Given the description of an element on the screen output the (x, y) to click on. 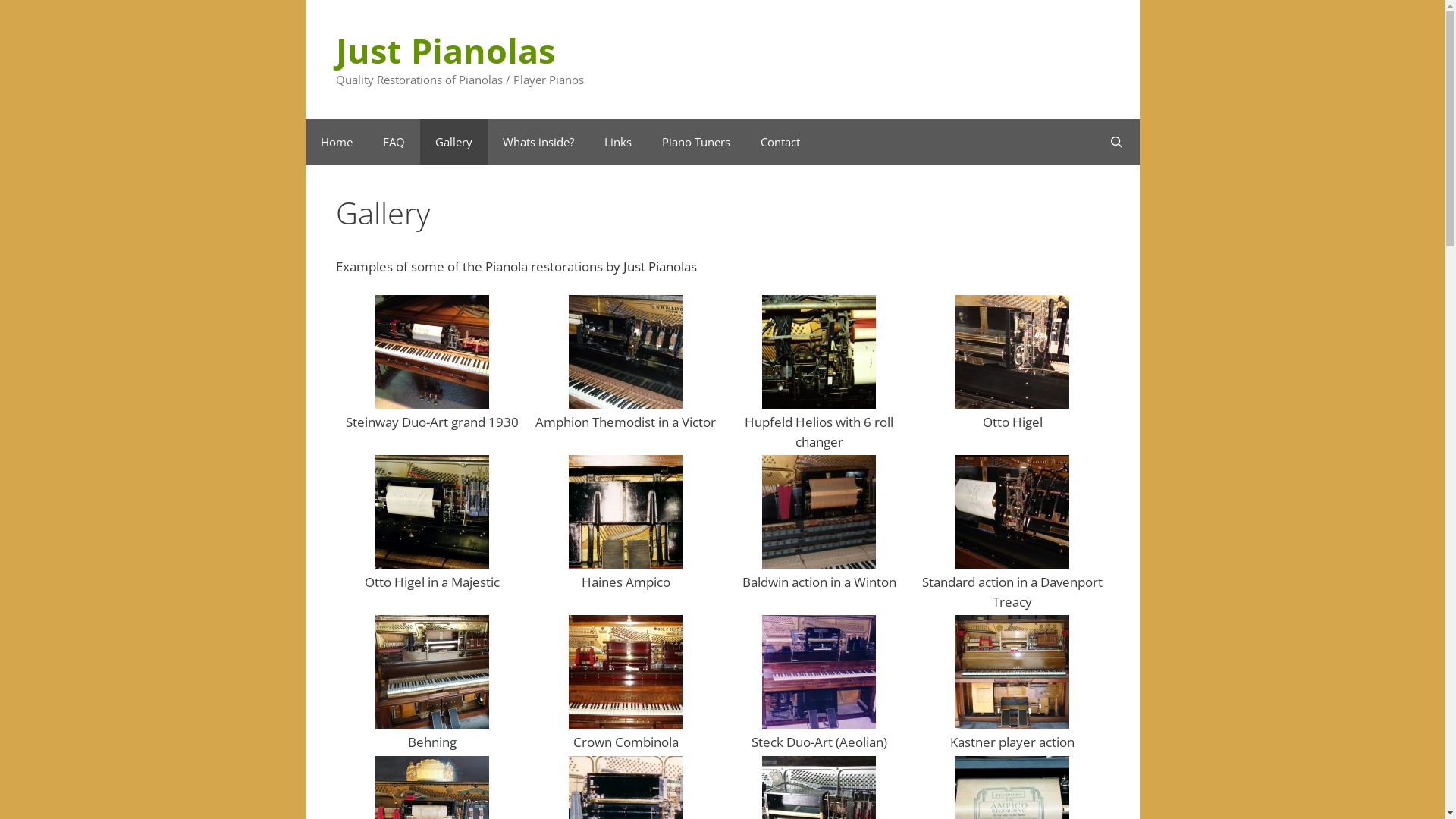
Whats inside? Element type: text (537, 140)
FAQ Element type: text (393, 140)
Piano Tuners Element type: text (695, 140)
Just Pianolas Element type: text (444, 50)
Gallery Element type: text (453, 140)
Search Element type: text (1116, 140)
Links Element type: text (617, 140)
Contact Element type: text (779, 140)
Home Element type: text (335, 140)
